Given the description of an element on the screen output the (x, y) to click on. 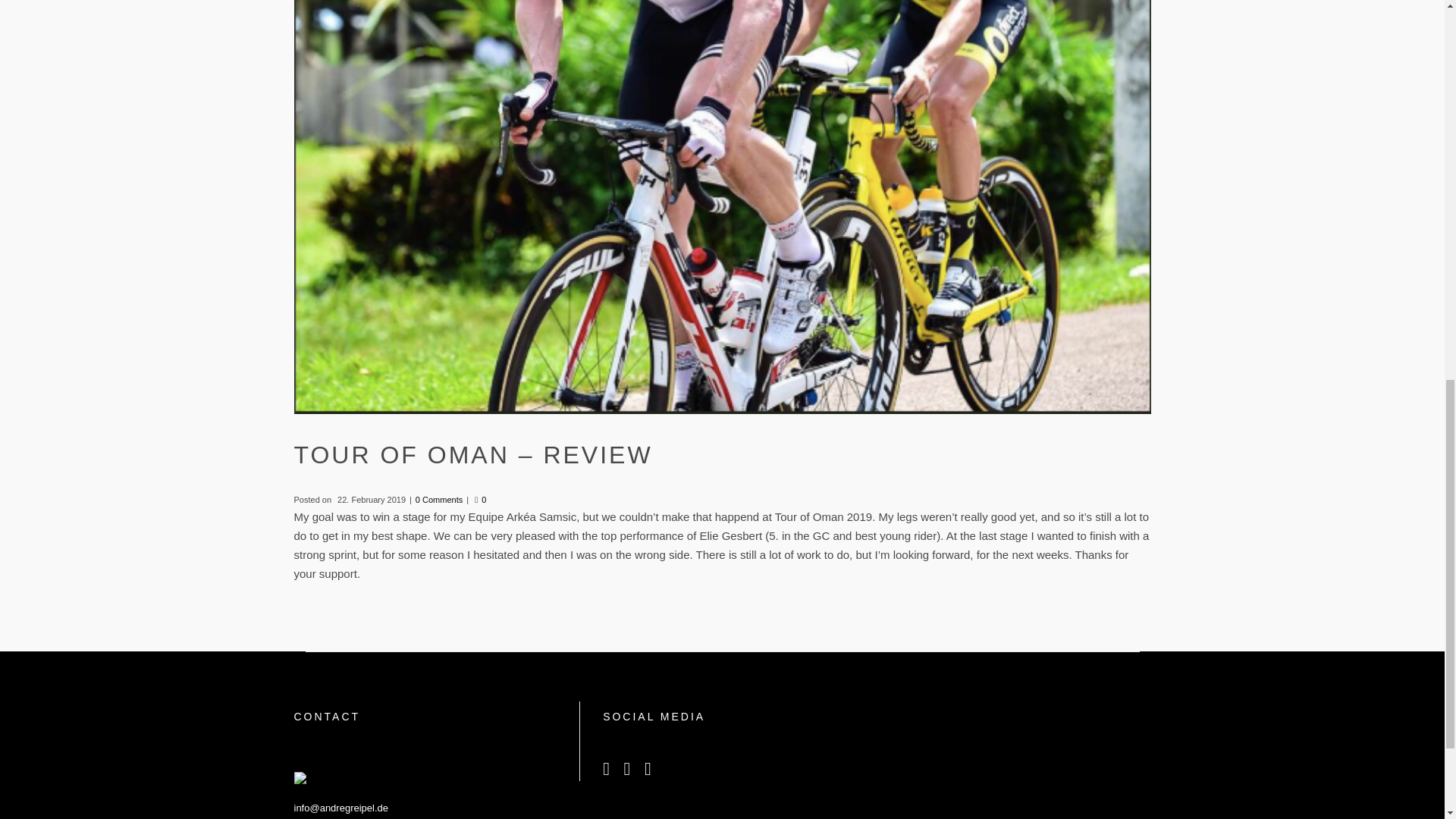
0 Comments (438, 499)
0 (480, 499)
Like this (480, 499)
